Given the description of an element on the screen output the (x, y) to click on. 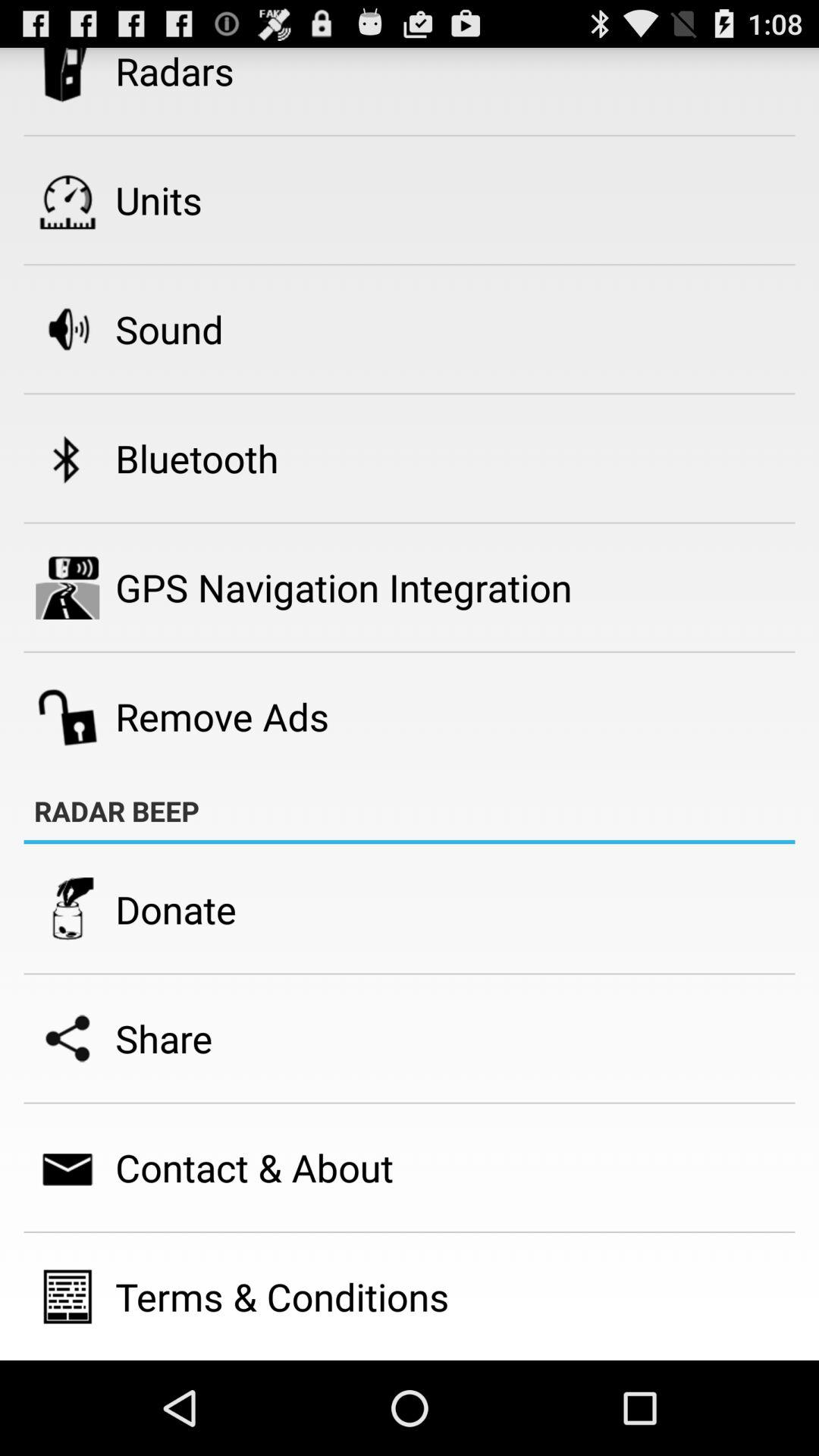
launch the icon below the units item (169, 328)
